Given the description of an element on the screen output the (x, y) to click on. 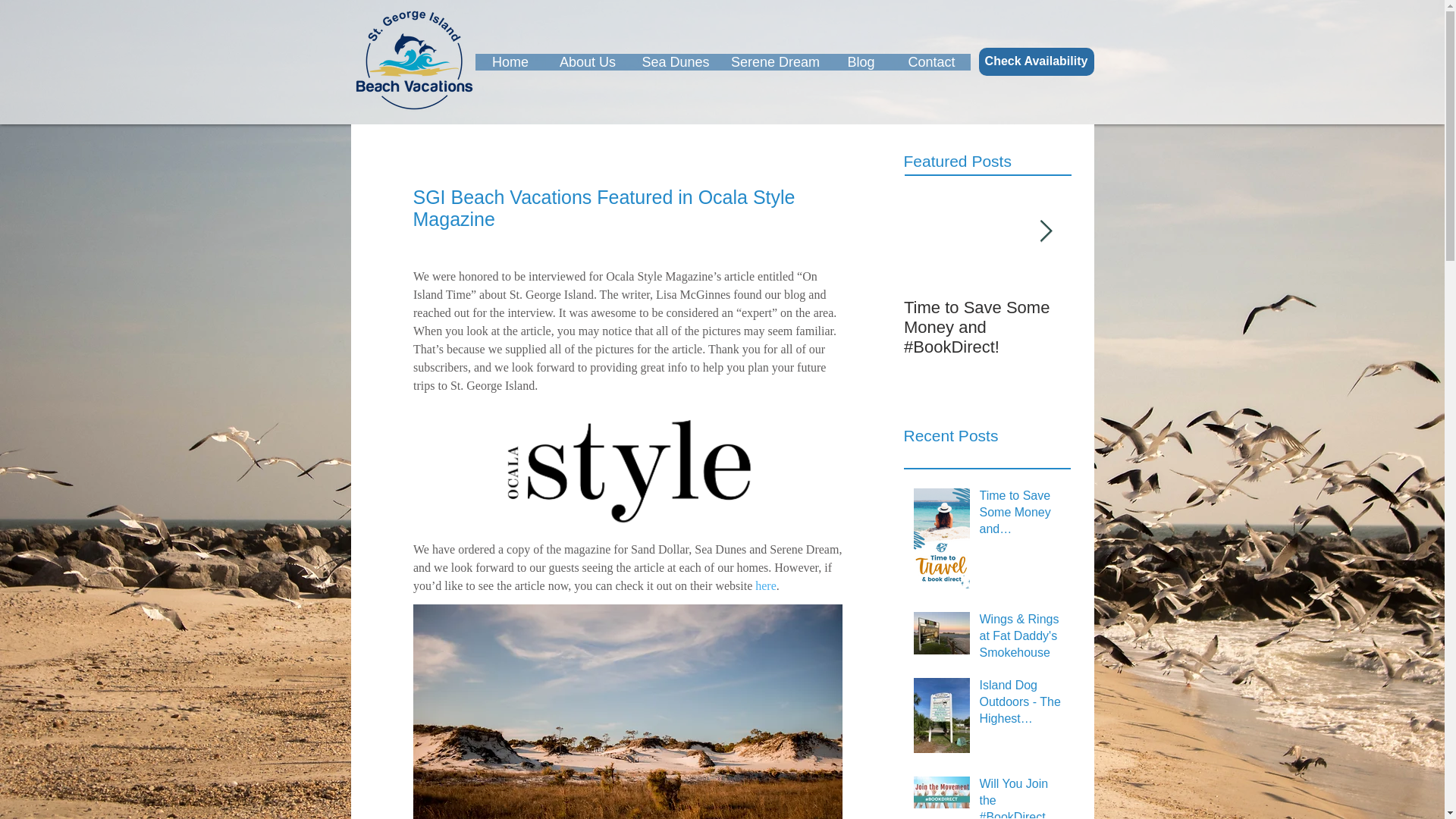
here (765, 585)
Island Dog Outdoors - The Highest Quality Rentals on SGI (1020, 705)
Serene Dream (775, 62)
About Us (588, 62)
Home (509, 62)
Sea Dunes (674, 62)
Check Availability (1035, 61)
Blog (861, 62)
Contact (932, 62)
